Given the description of an element on the screen output the (x, y) to click on. 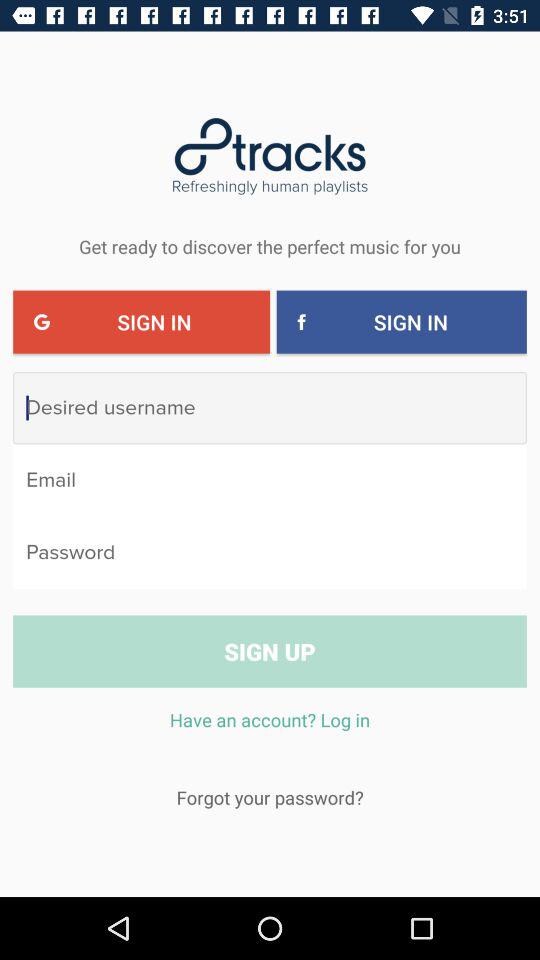
click to allow password entry (269, 552)
